Given the description of an element on the screen output the (x, y) to click on. 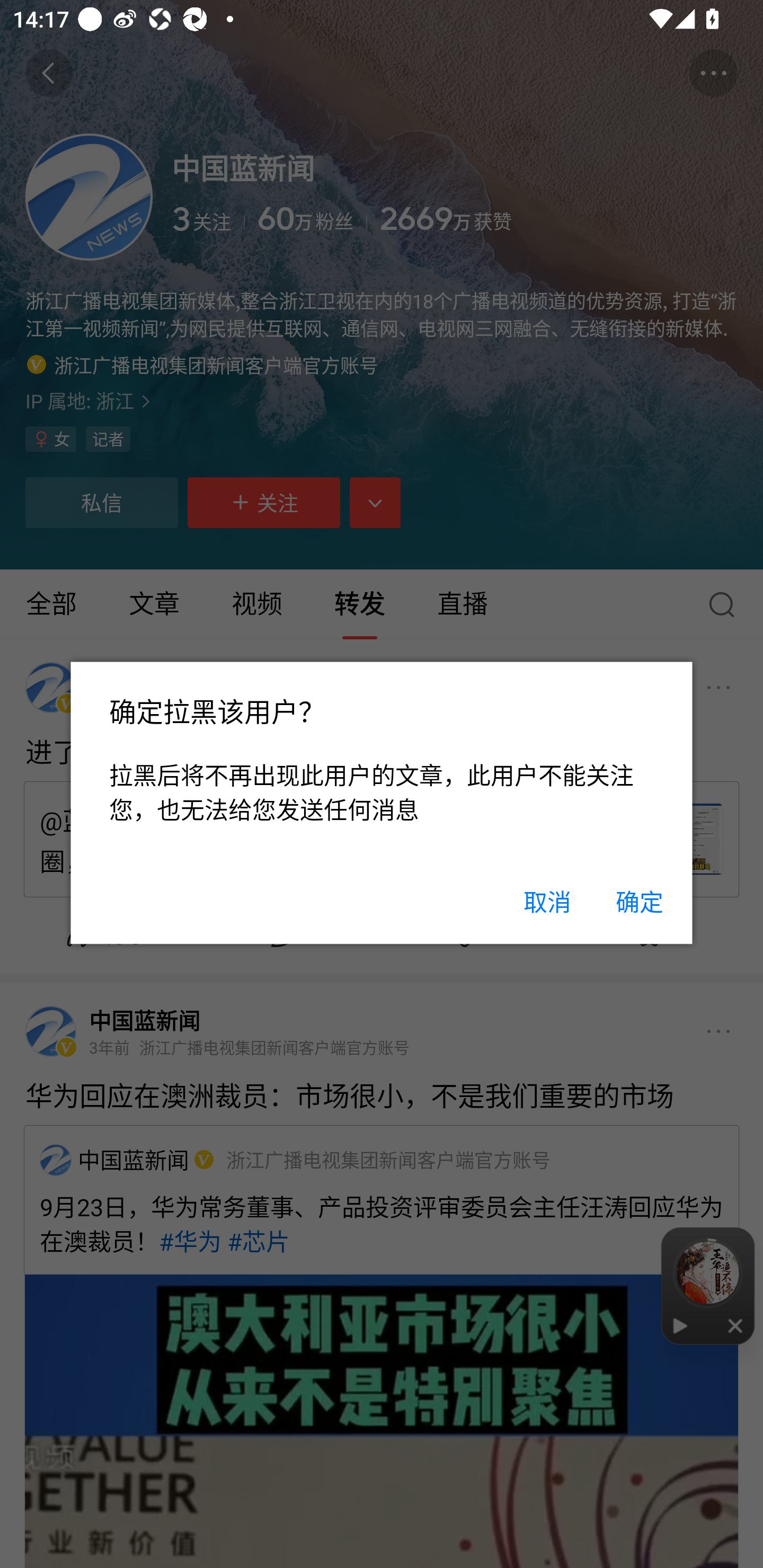
取消 (546, 902)
确定 (639, 902)
